Given the description of an element on the screen output the (x, y) to click on. 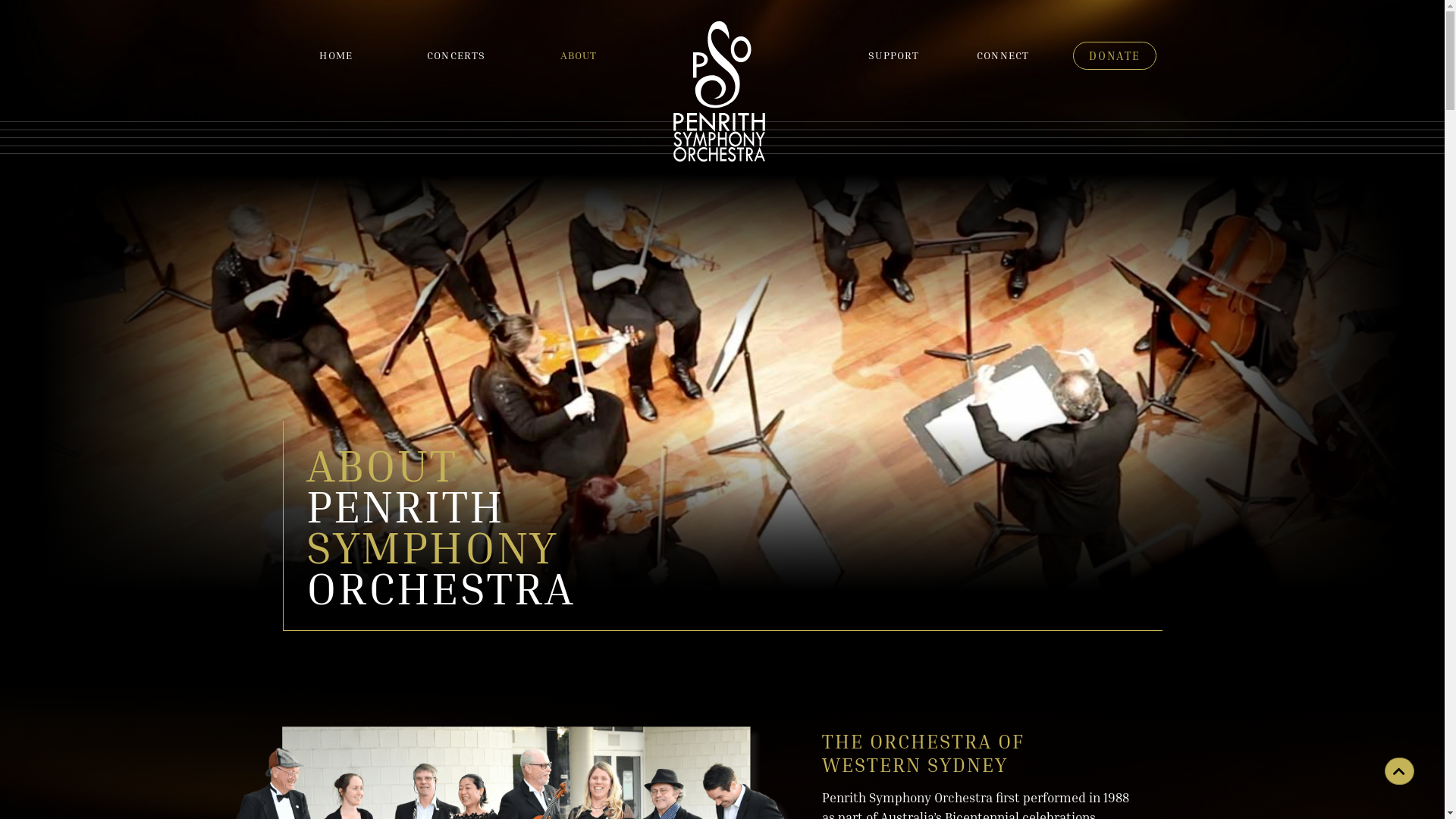
CONNECT Element type: text (1002, 54)
HOME Element type: text (335, 54)
DONATE Element type: text (1114, 55)
CONCERTS Element type: text (455, 54)
SUPPORT Element type: text (893, 54)
ABOUT Element type: text (578, 54)
